Given the description of an element on the screen output the (x, y) to click on. 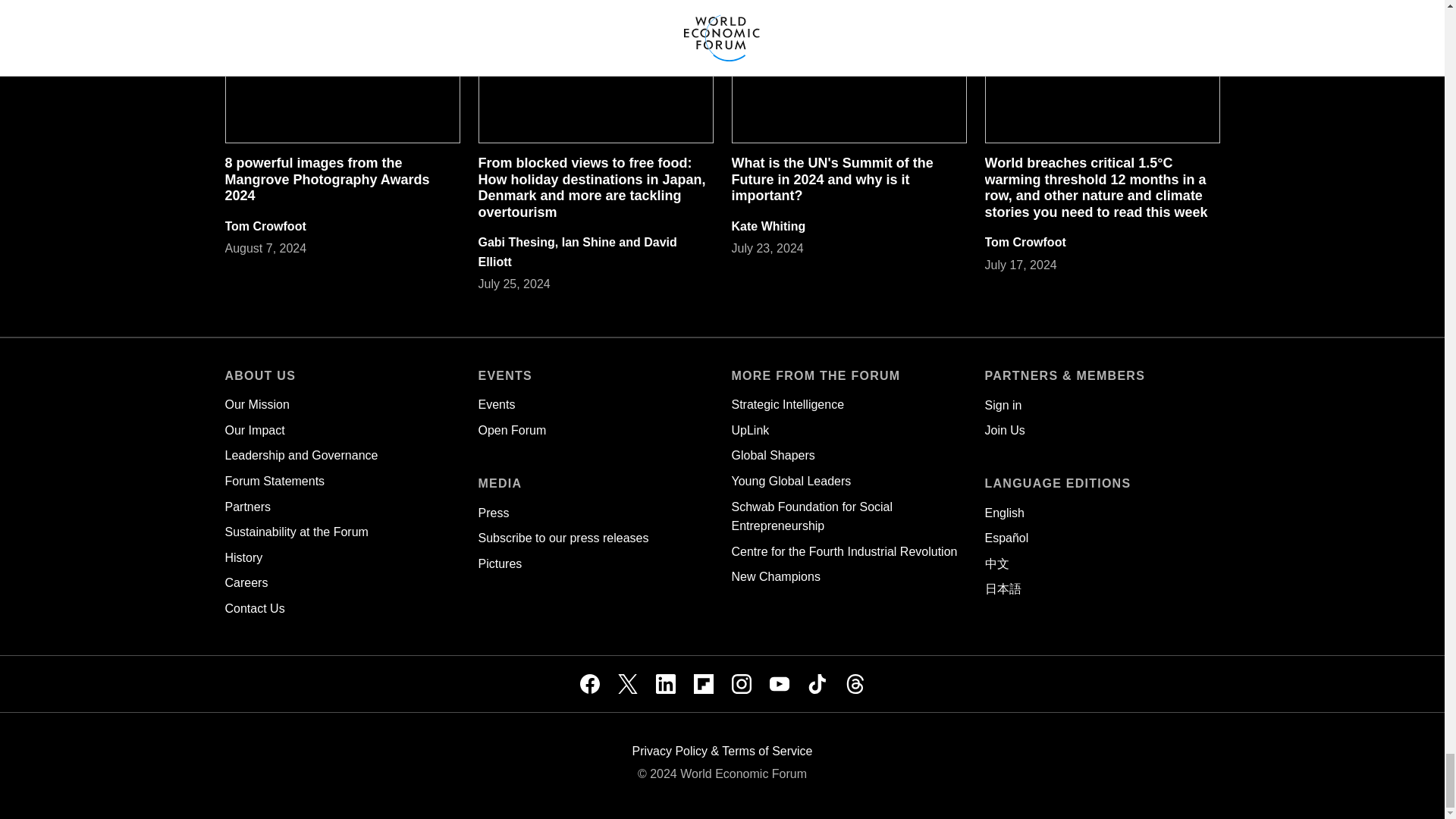
Our Mission (256, 404)
8 powerful images from the Mangrove Photography Awards 2024 (326, 179)
Our Impact (253, 430)
